Given the description of an element on the screen output the (x, y) to click on. 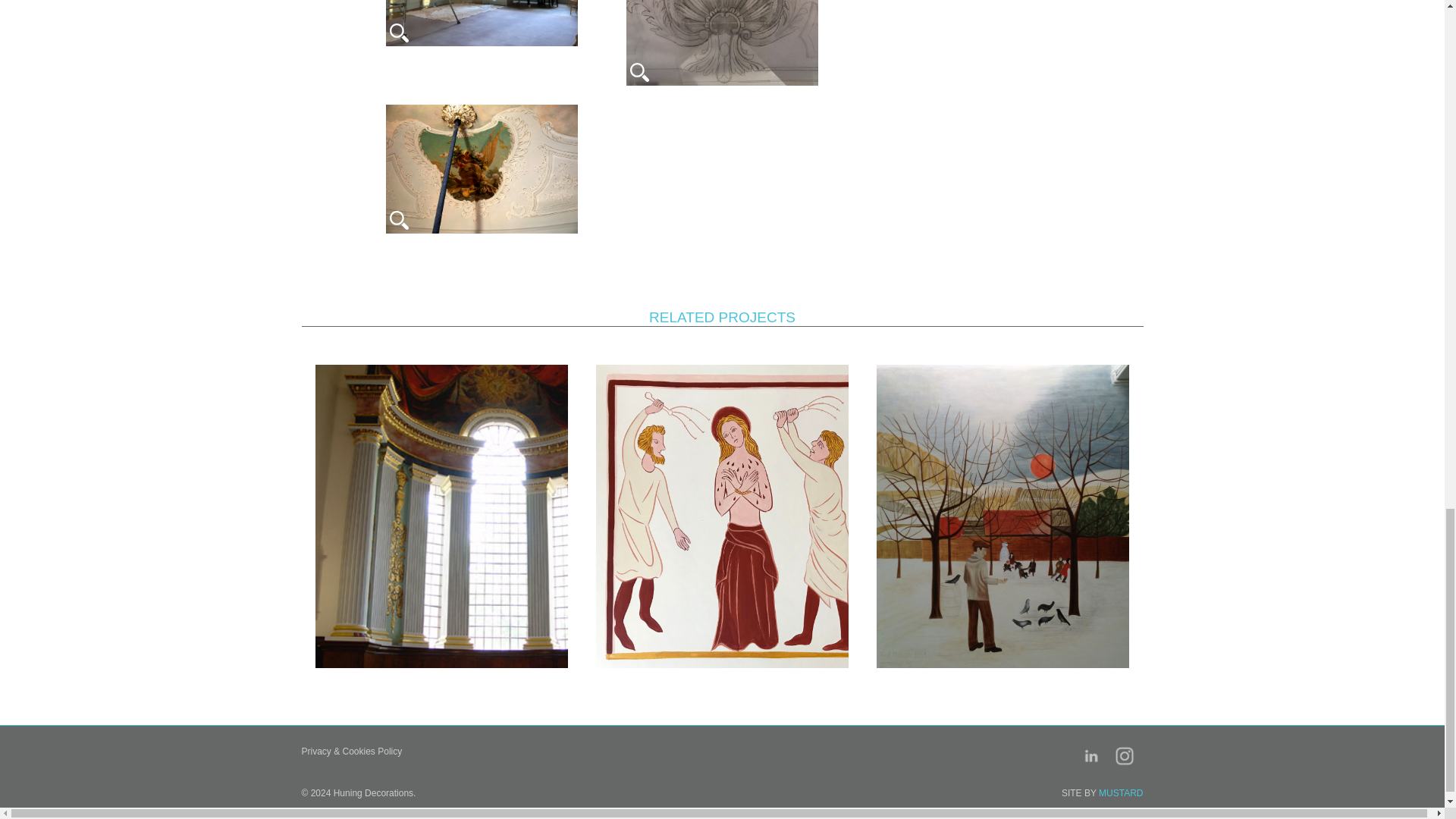
MUSTARD (1120, 792)
